Given the description of an element on the screen output the (x, y) to click on. 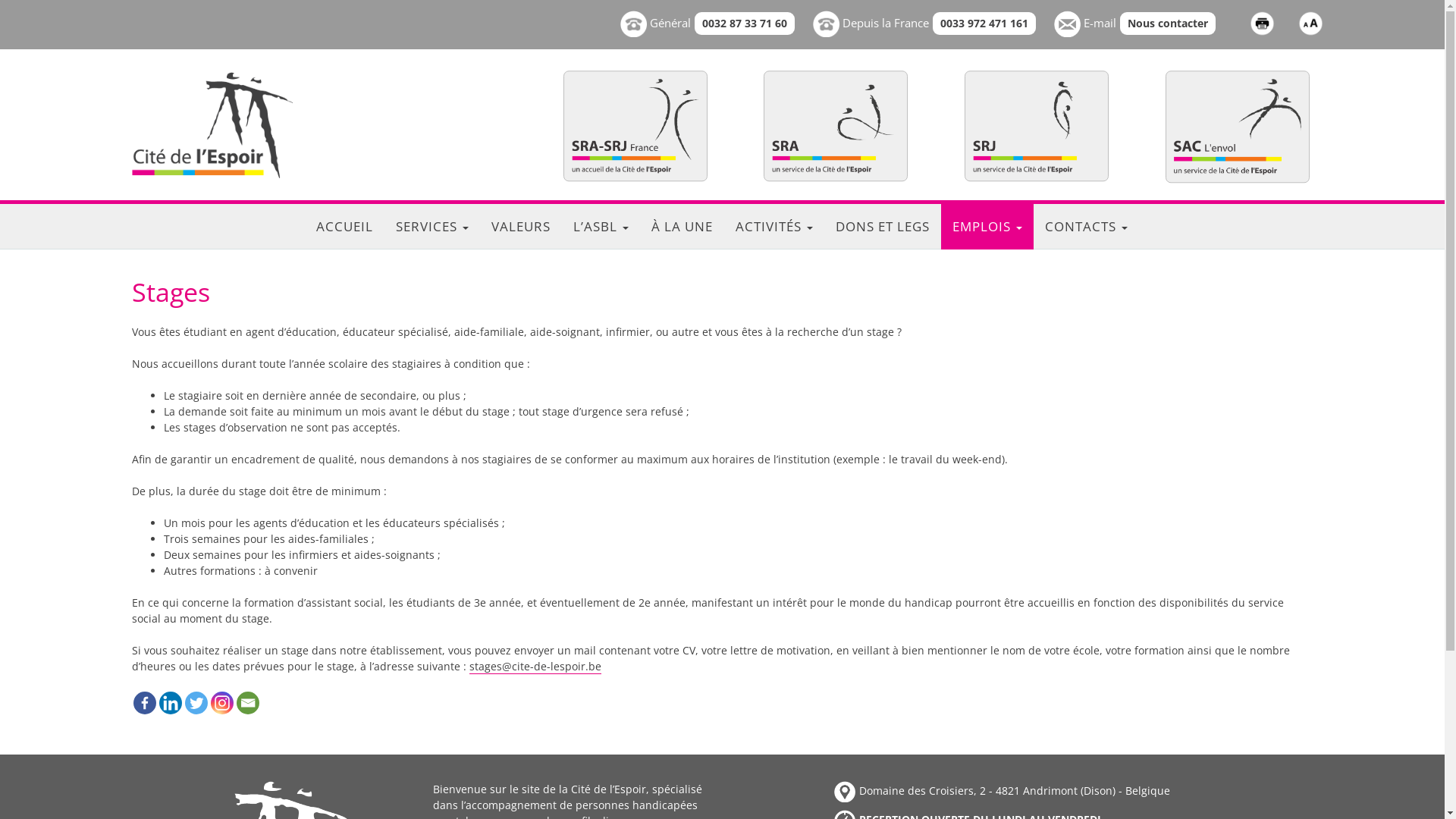
Domaine des Croisiers, 2 - 4821 Andrimont (Dison) - Belgique Element type: text (1002, 790)
0032 87 33 71 60 Element type: text (744, 23)
VALEURS Element type: text (520, 226)
Facebook Element type: hover (144, 702)
Instagram Element type: hover (221, 702)
CONTACTS Element type: text (1086, 226)
Imprimer cette page Element type: hover (1261, 22)
0033 972 471 161 Element type: text (983, 23)
Nous contacter Element type: text (1167, 23)
SERVICES Element type: text (432, 226)
Email Element type: hover (247, 702)
ACCUEIL Element type: text (344, 226)
Linkedin Element type: hover (170, 702)
stages@cite-de-lespoir.be Element type: text (535, 666)
Twitter Element type: hover (196, 702)
DONS ET LEGS Element type: text (882, 226)
EMPLOIS Element type: text (987, 226)
